Given the description of an element on the screen output the (x, y) to click on. 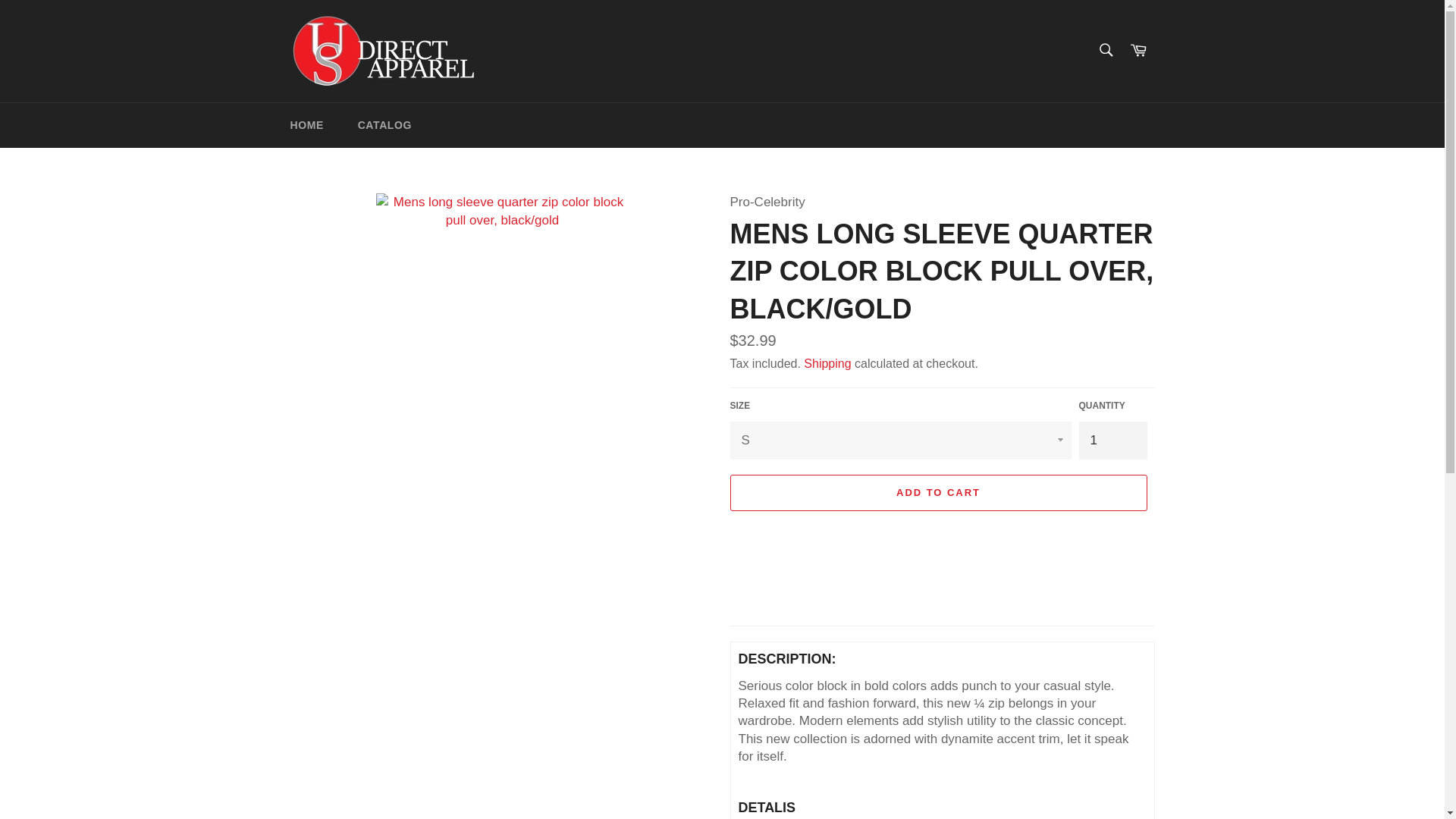
CATALOG (384, 125)
1 (1112, 439)
HOME (306, 125)
ADD TO CART (938, 493)
Shipping (826, 363)
Cart (1138, 50)
Search (1104, 50)
